Given the description of an element on the screen output the (x, y) to click on. 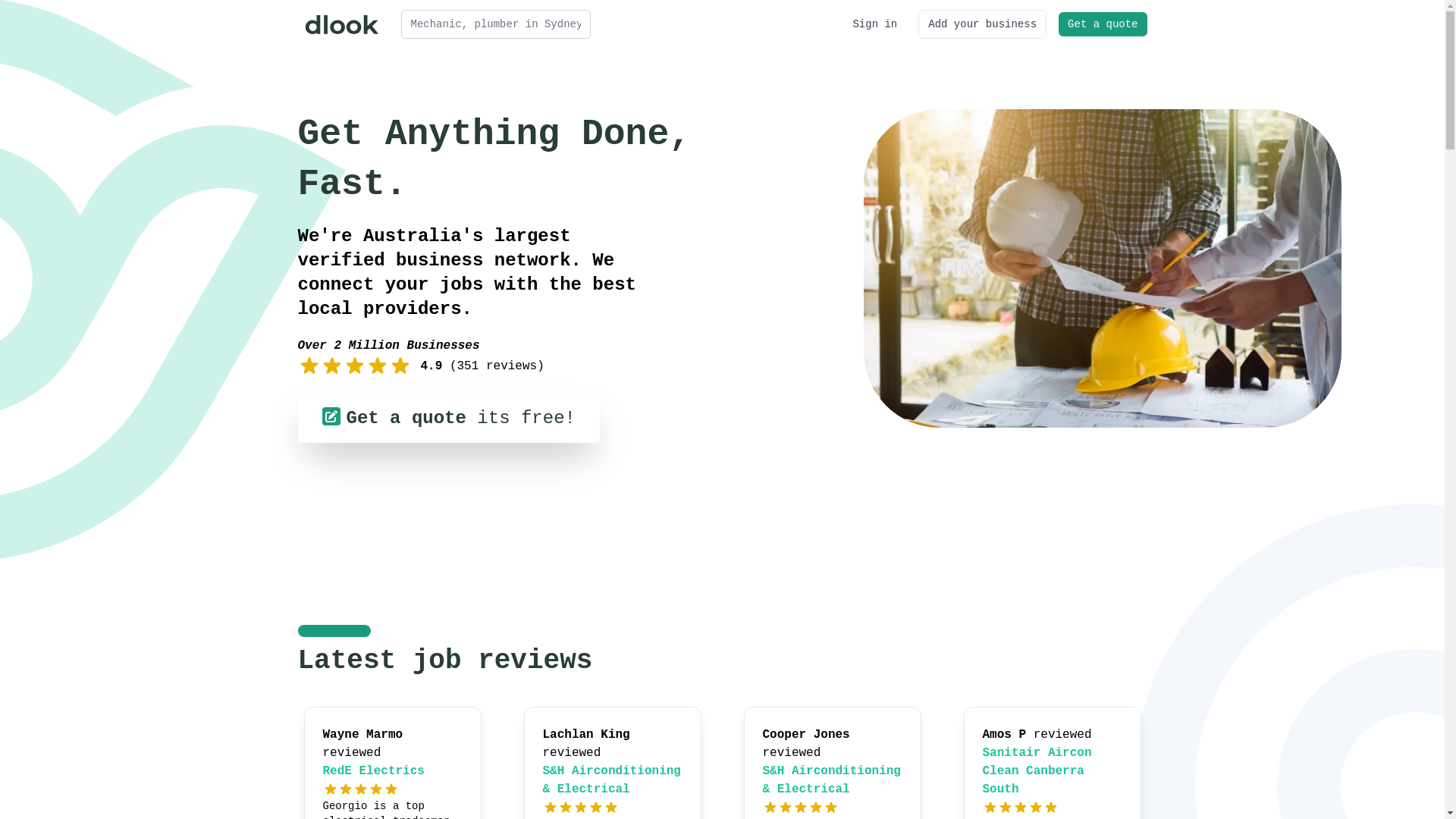
Get a quote its free! Element type: text (448, 417)
Add your business Element type: text (982, 23)
Sanitair Aircon Clean Canberra South Element type: text (1037, 771)
RedE Electrics Element type: text (373, 771)
S&H Airconditioning & Electrical Element type: text (611, 780)
Sign in Element type: text (874, 23)
Get a quote Element type: text (1102, 24)
S&H Airconditioning & Electrical Element type: text (831, 780)
